Given the description of an element on the screen output the (x, y) to click on. 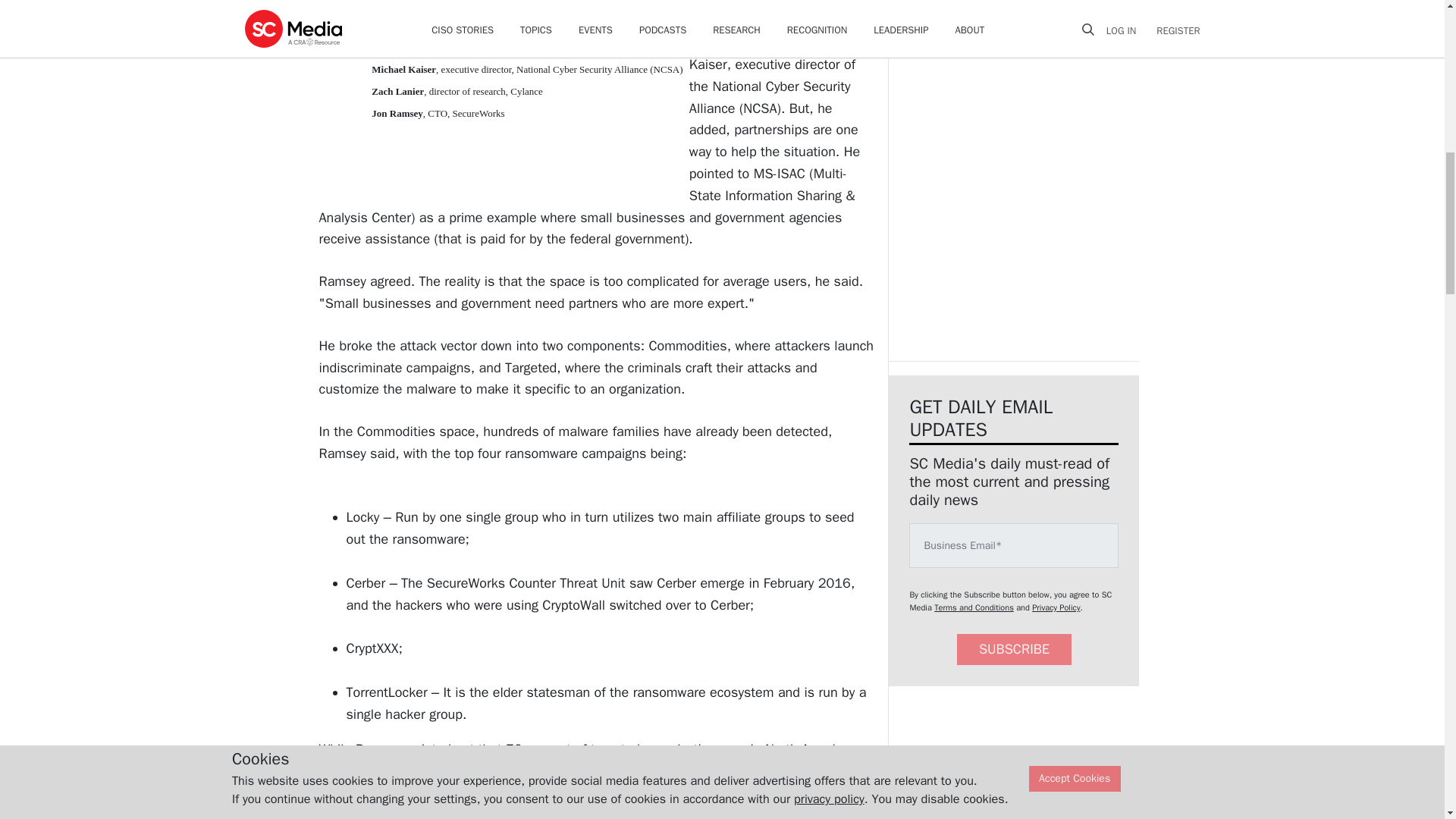
Privacy Policy (1056, 606)
SUBSCRIBE (1013, 649)
Terms and Conditions (973, 606)
